Given the description of an element on the screen output the (x, y) to click on. 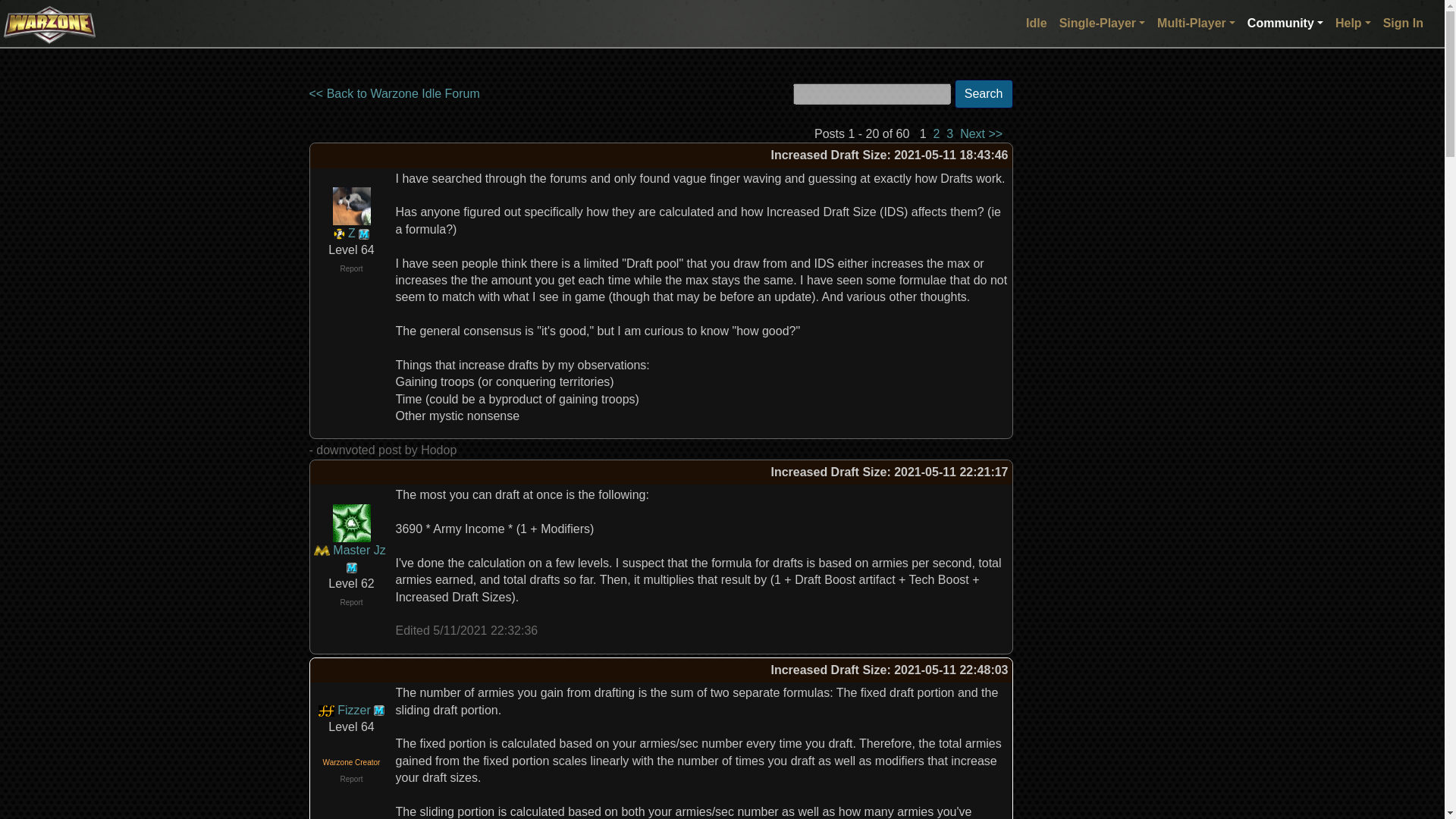
Search Forum (871, 93)
Sign In (1403, 23)
Multi-Player (1196, 23)
Single-Player (1101, 23)
Idle (1036, 23)
Flunky Fizzers (326, 709)
Warzone Member (379, 710)
Help (1353, 23)
Community (1285, 23)
Search (984, 93)
Warzone Member (351, 567)
Warzone Member (363, 234)
MASTER Clan (322, 549)
